Given the description of an element on the screen output the (x, y) to click on. 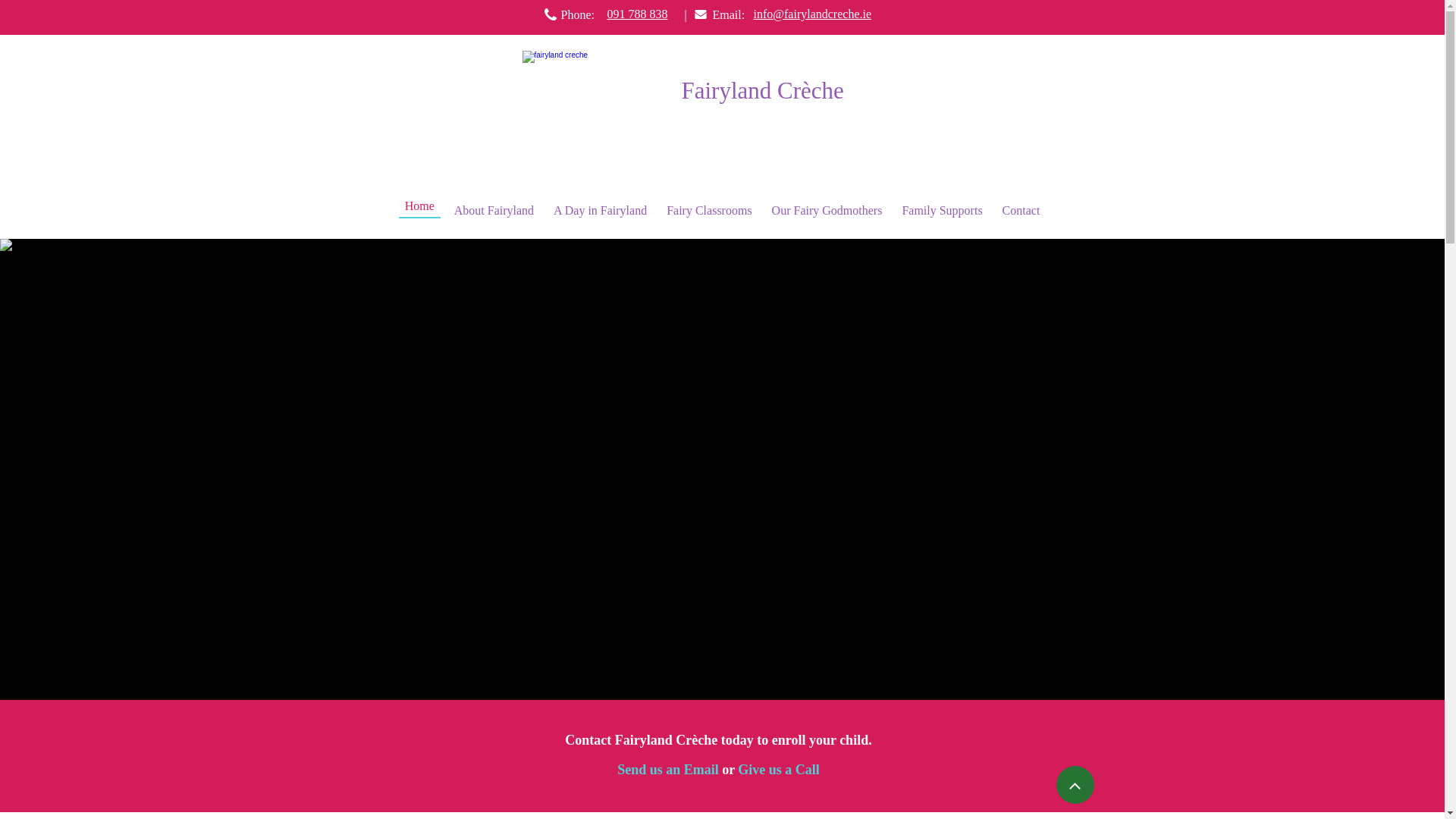
Fairy Classrooms (709, 210)
A Day in Fairyland (599, 210)
About Fairyland (494, 210)
Our Fairy Godmothers (826, 210)
Send us an Email (668, 771)
Home (419, 206)
Contact (1020, 210)
091 788 838 (636, 15)
Give us a Call (778, 771)
Family Supports (941, 210)
